Given the description of an element on the screen output the (x, y) to click on. 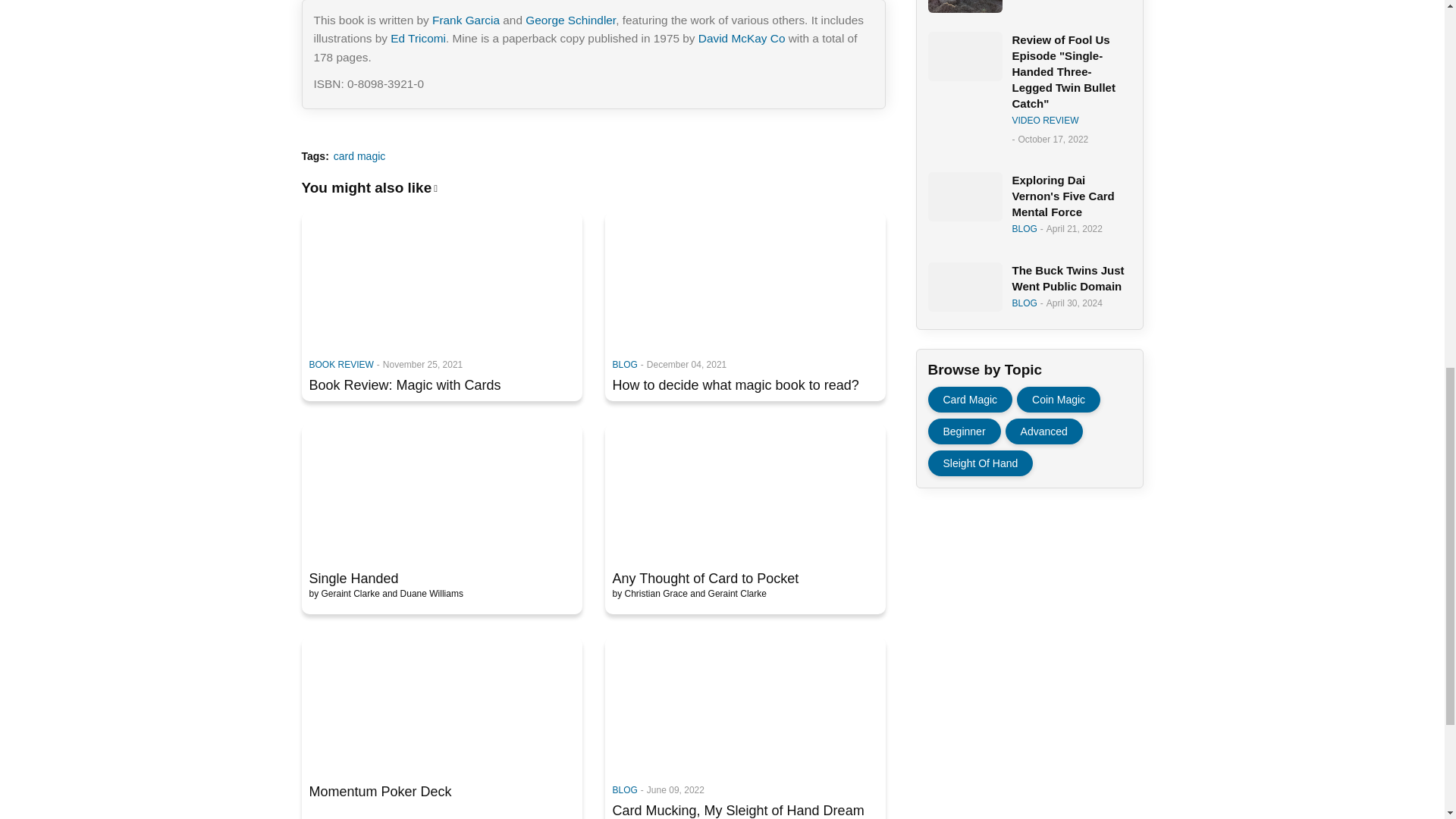
George Schindler (570, 19)
Momentum Poker Deck (441, 791)
Single Handed by Geraint Clarke and Duane Williams (441, 491)
Single Handed by Geraint Clarke and Duane Williams (441, 578)
Ed Tricomi (417, 38)
Book Review: Magic with Cards (441, 278)
Ed Tricomi (417, 38)
How to decide what magic book to read? (744, 384)
Book Review: Magic with Cards (441, 384)
